Given the description of an element on the screen output the (x, y) to click on. 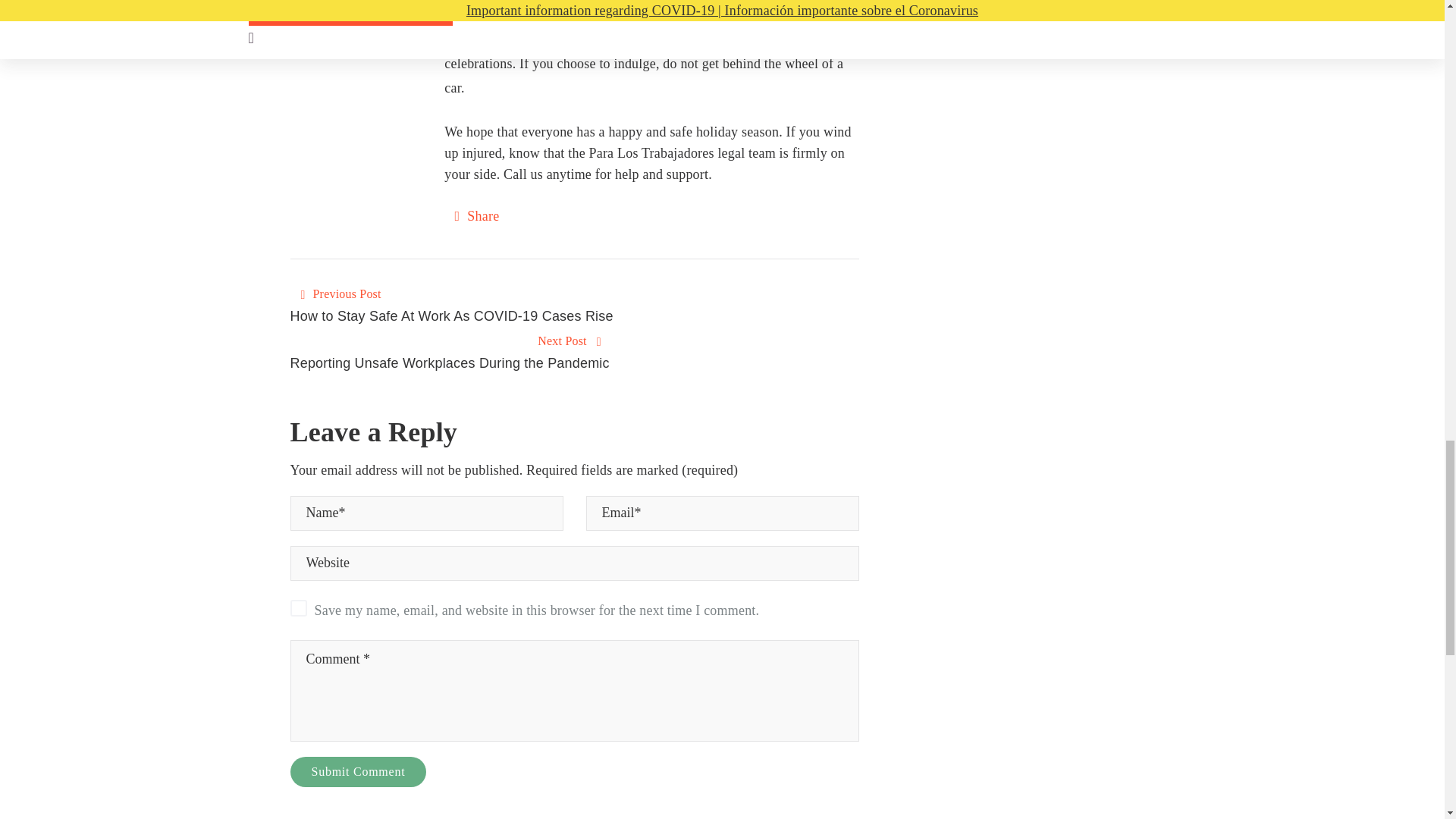
Submit Comment (357, 771)
